Given the description of an element on the screen output the (x, y) to click on. 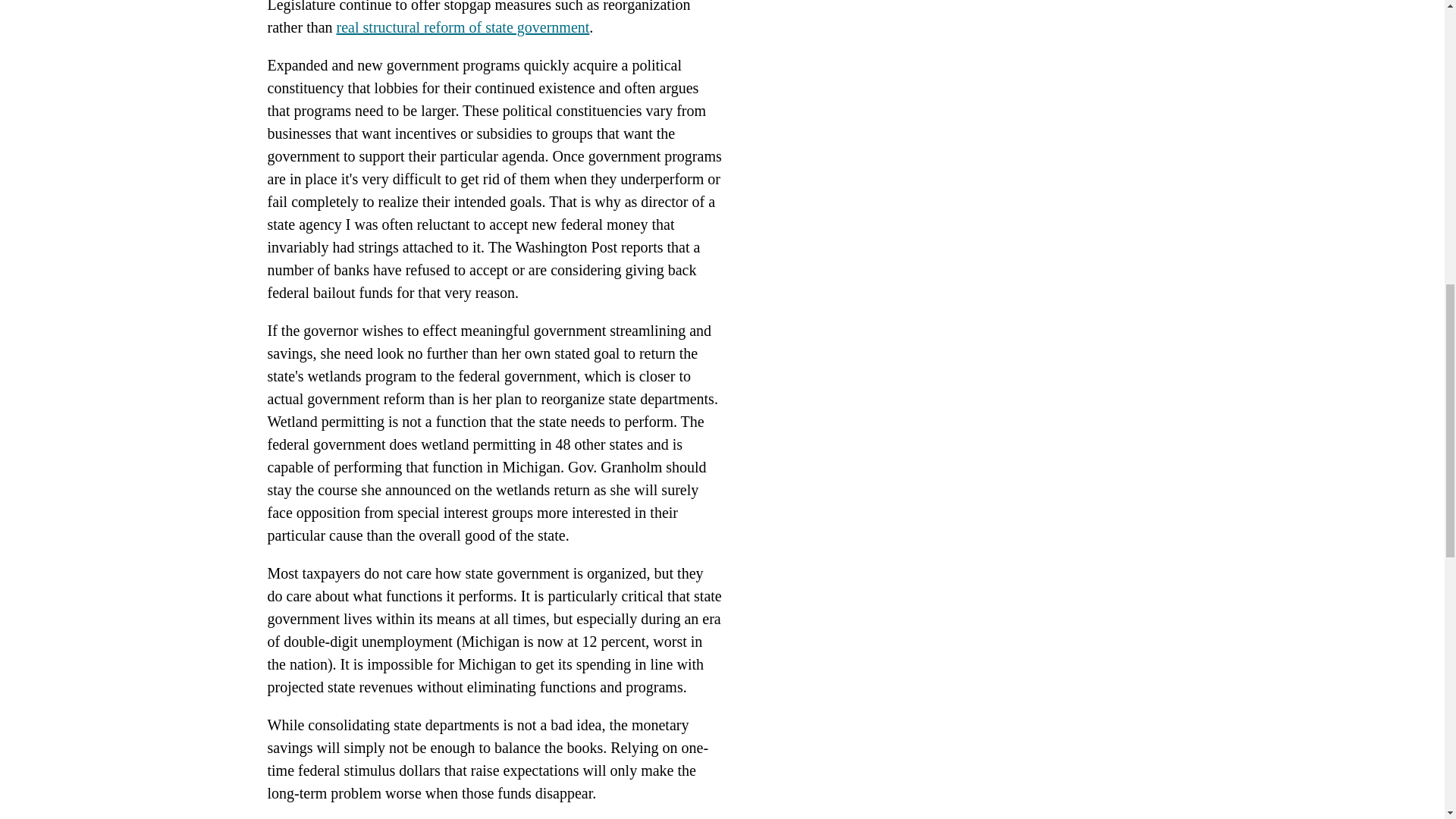
real structural reform of state government (462, 27)
